Given the description of an element on the screen output the (x, y) to click on. 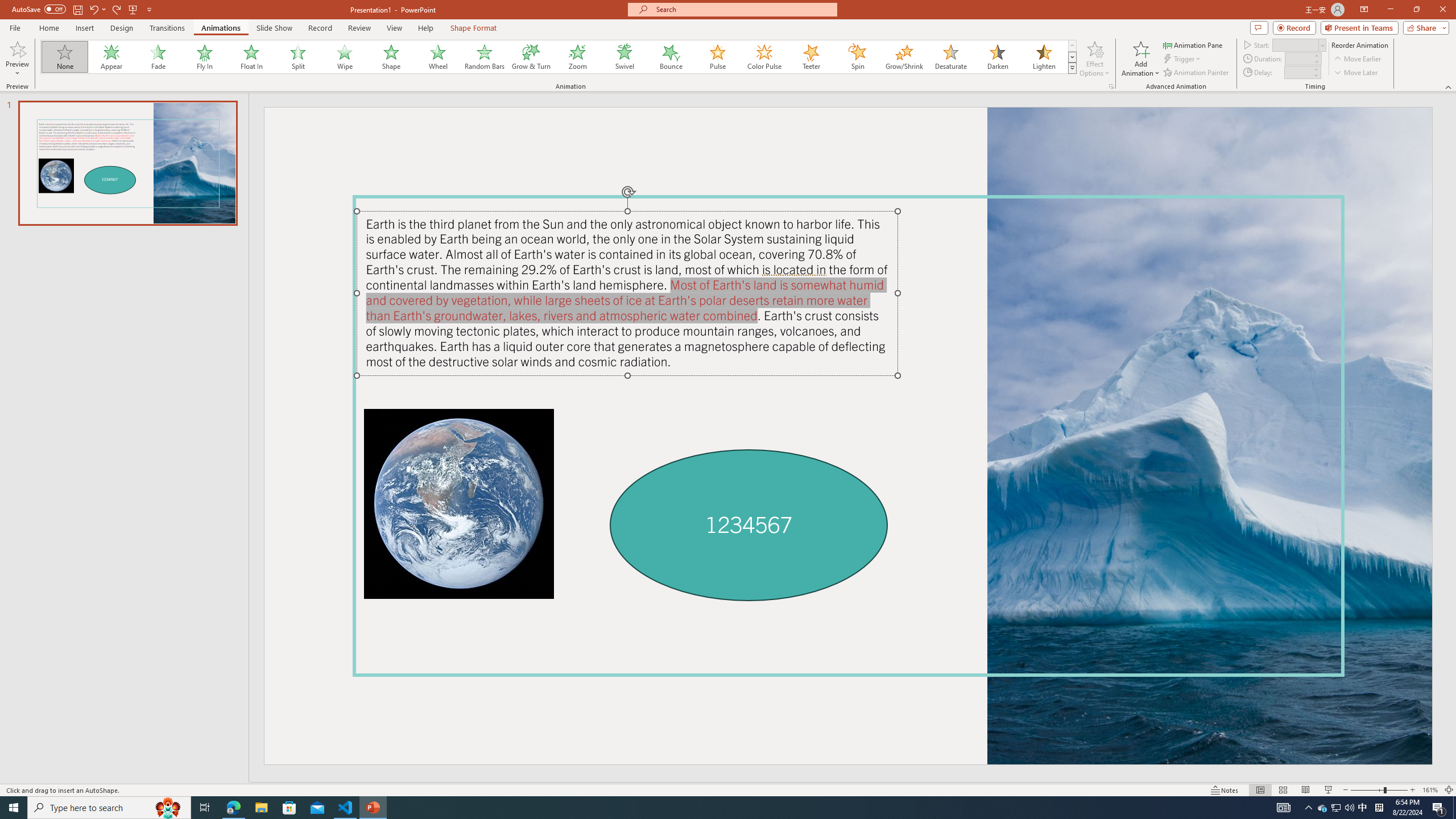
None (65, 56)
Open (1321, 44)
From Beginning (133, 9)
Design (122, 28)
More (1315, 69)
Random Bars (484, 56)
Share (1423, 27)
Trigger (1182, 58)
Ribbon Display Options (1364, 9)
Zoom Out (1367, 790)
Class: NetUIImage (1072, 68)
